Given the description of an element on the screen output the (x, y) to click on. 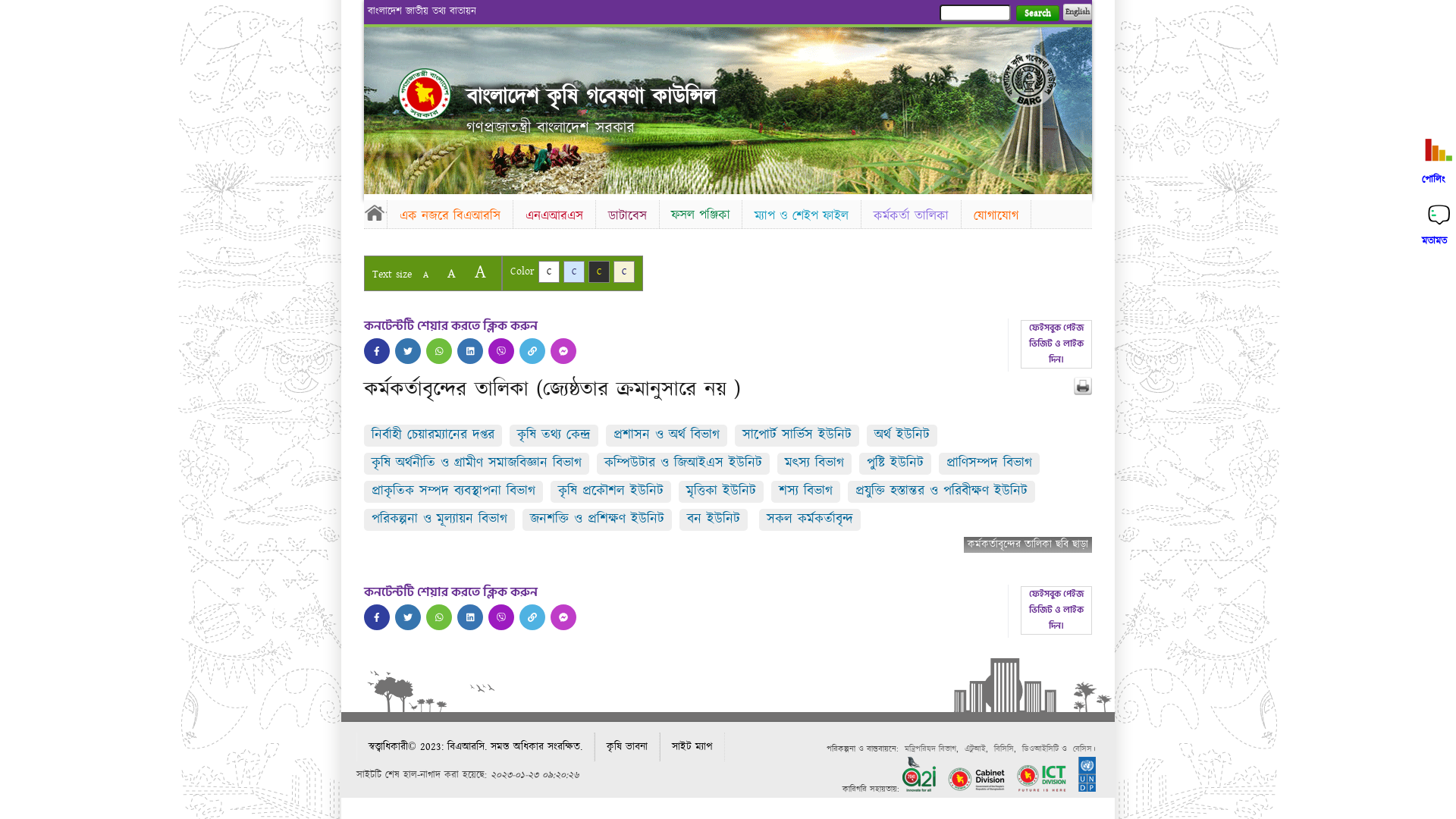
A Element type: text (451, 273)
C Element type: text (623, 271)
Home Element type: hover (424, 93)
A Element type: text (480, 271)
English Element type: text (1077, 11)
Search Element type: text (1037, 13)
C Element type: text (598, 271)
C Element type: text (573, 271)
C Element type: text (548, 271)
Home Element type: hover (375, 211)
A Element type: text (425, 274)
